Given the description of an element on the screen output the (x, y) to click on. 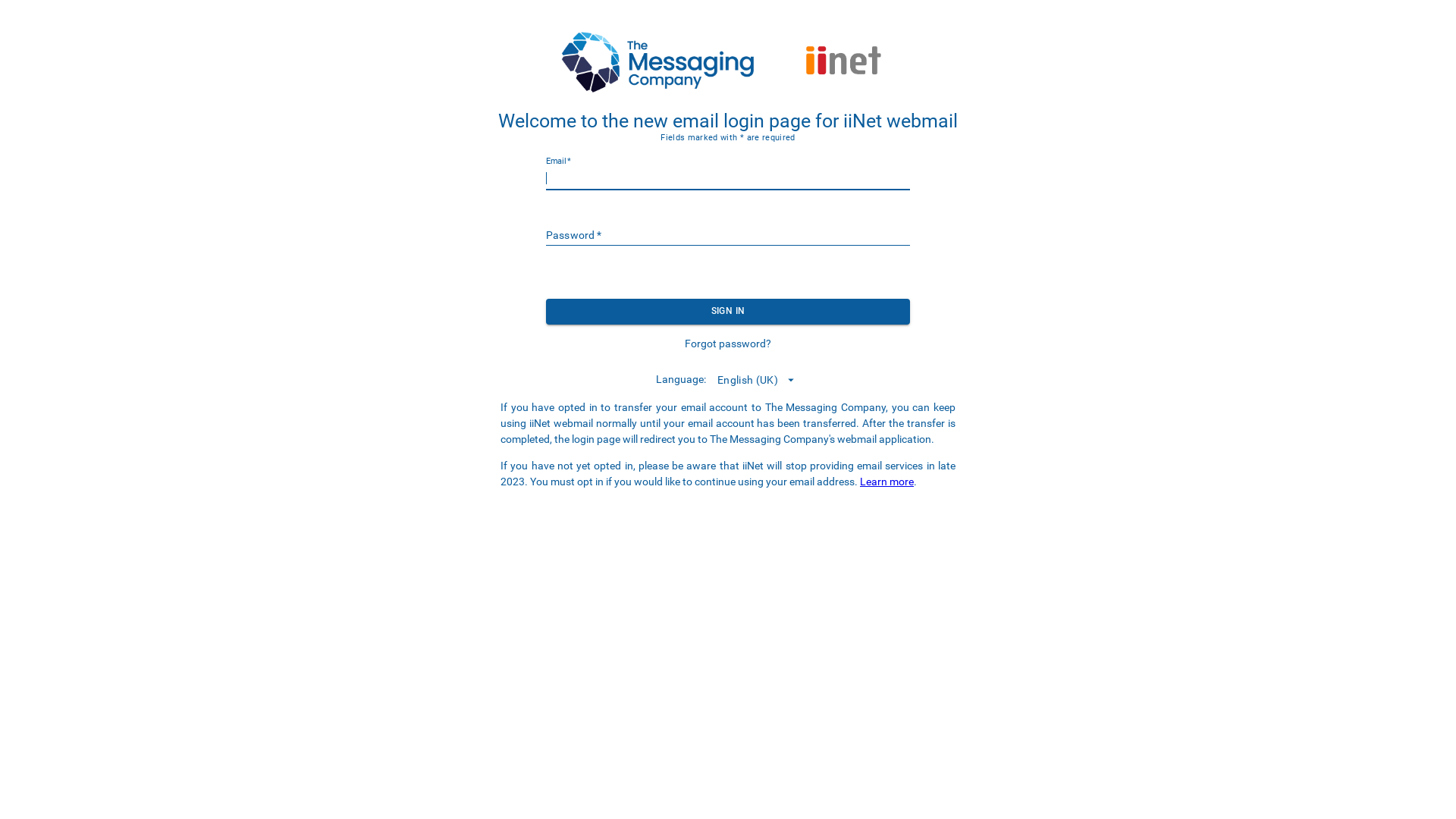
English (UK) Element type: text (756, 379)
Learn more Element type: text (886, 481)
Forgot password? Element type: text (728, 337)
SIGN IN Element type: text (728, 310)
